Given the description of an element on the screen output the (x, y) to click on. 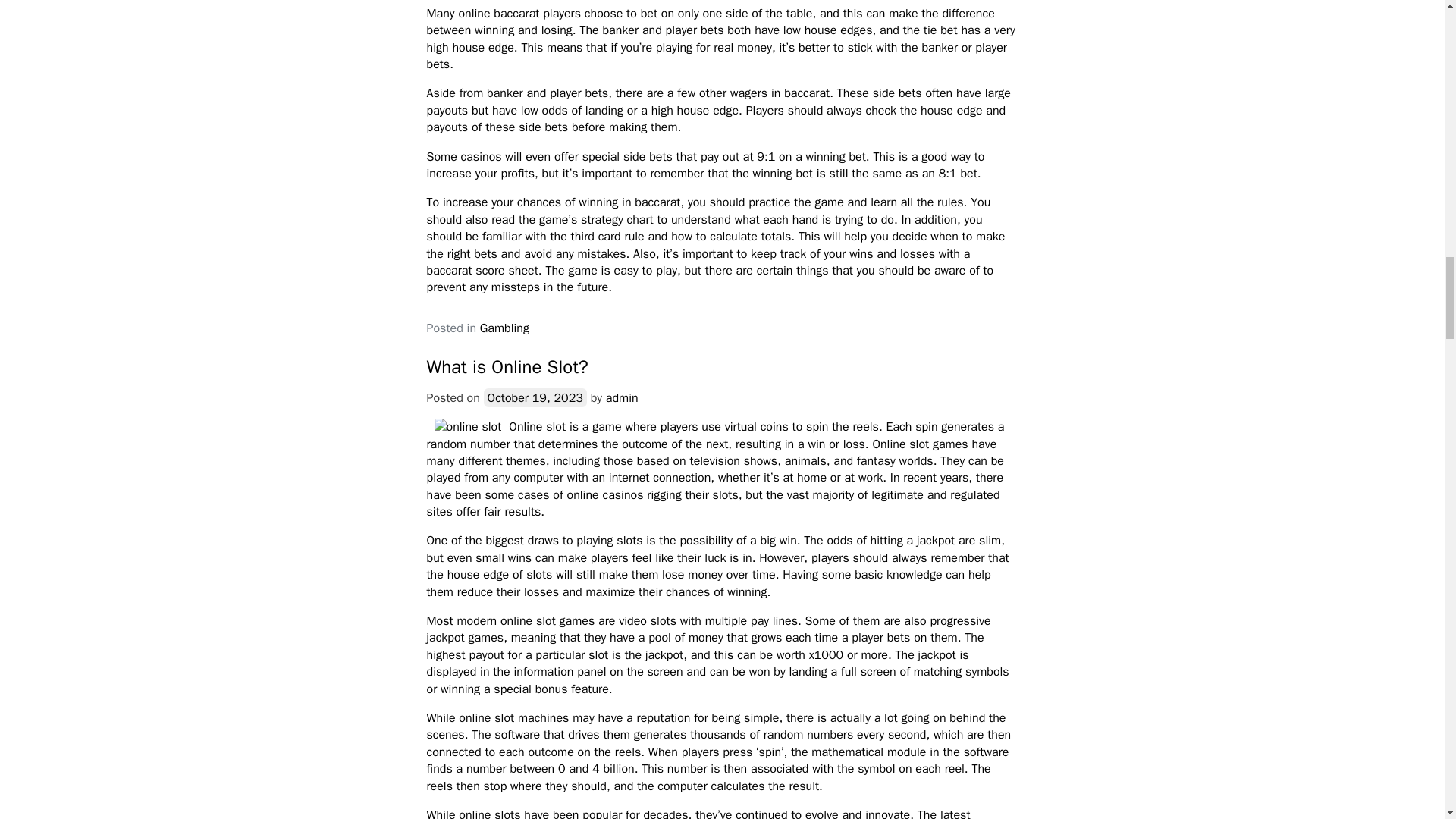
Gambling (504, 328)
What is Online Slot? (507, 366)
October 19, 2023 (534, 397)
